Given the description of an element on the screen output the (x, y) to click on. 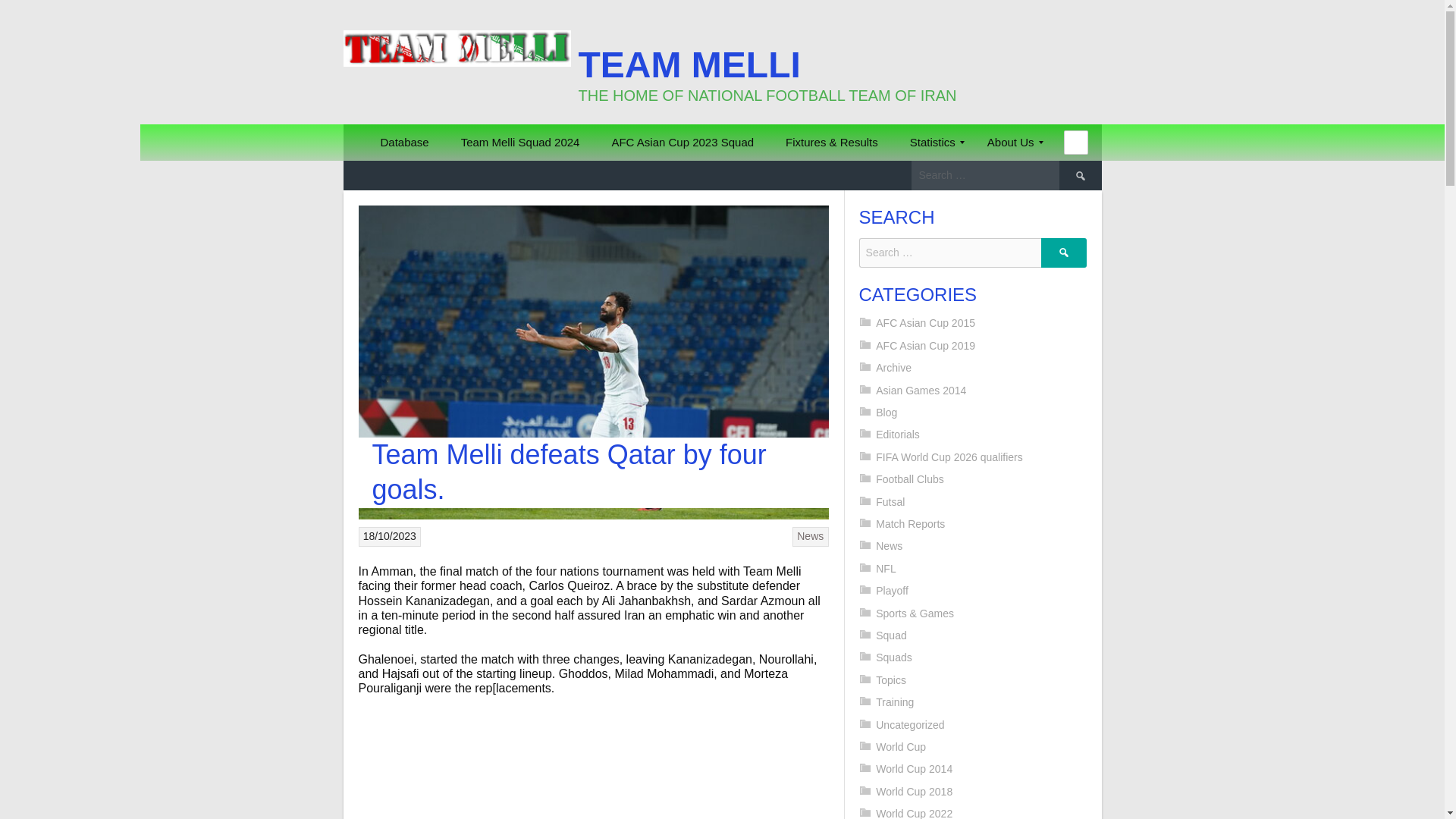
News (810, 535)
Search (1063, 252)
Database (403, 142)
AFC Asian Cup 2015 (925, 322)
AFC Asian Cup 2019 (925, 345)
Advertisement (685, 765)
Statistics (932, 142)
Archive (893, 367)
Asian Games 2014 (921, 390)
Blog (886, 412)
Search (11, 9)
NFL (885, 568)
TeamMelli2024 (520, 142)
Team Melli Squad 2024 (520, 142)
TEAM MELLI (688, 65)
